Given the description of an element on the screen output the (x, y) to click on. 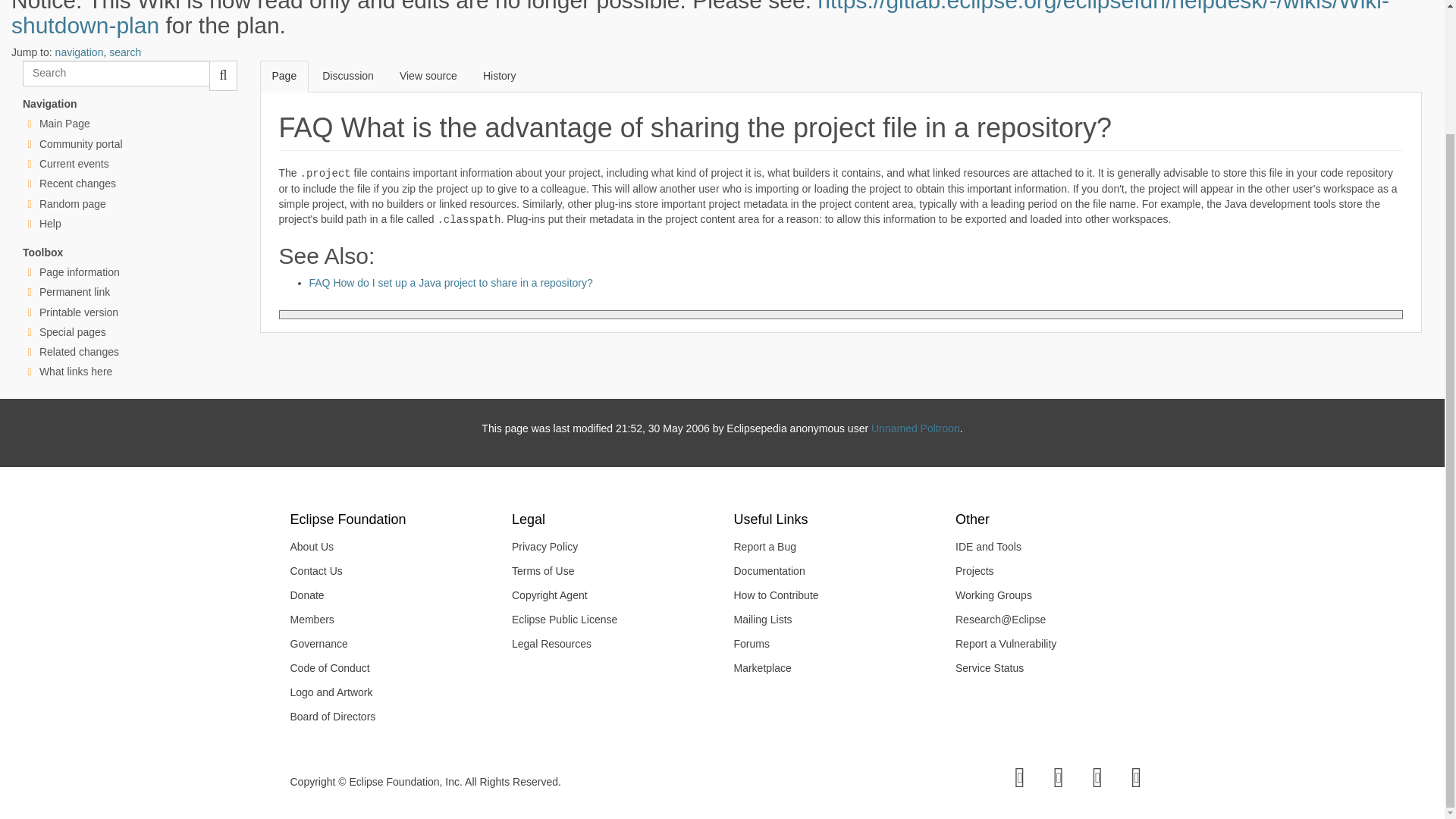
About the project, what you can do, where to find things (80, 143)
Search the pages for this text (222, 75)
More information about this page (79, 272)
The place to find out (50, 223)
Permanent link to this revision of the page (74, 291)
Special:Search (116, 73)
Find background information on current events (74, 163)
